Given the description of an element on the screen output the (x, y) to click on. 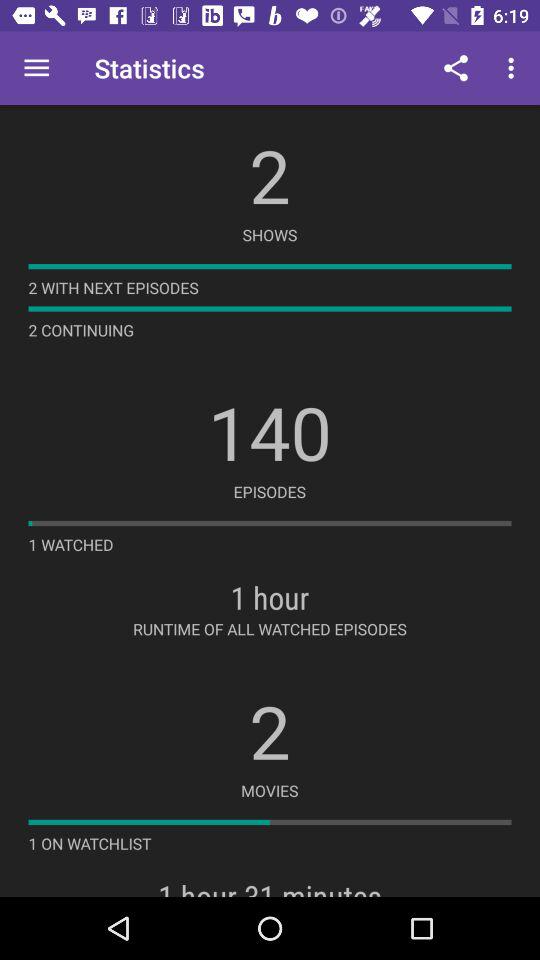
select icon to the right of statistics (455, 67)
